Given the description of an element on the screen output the (x, y) to click on. 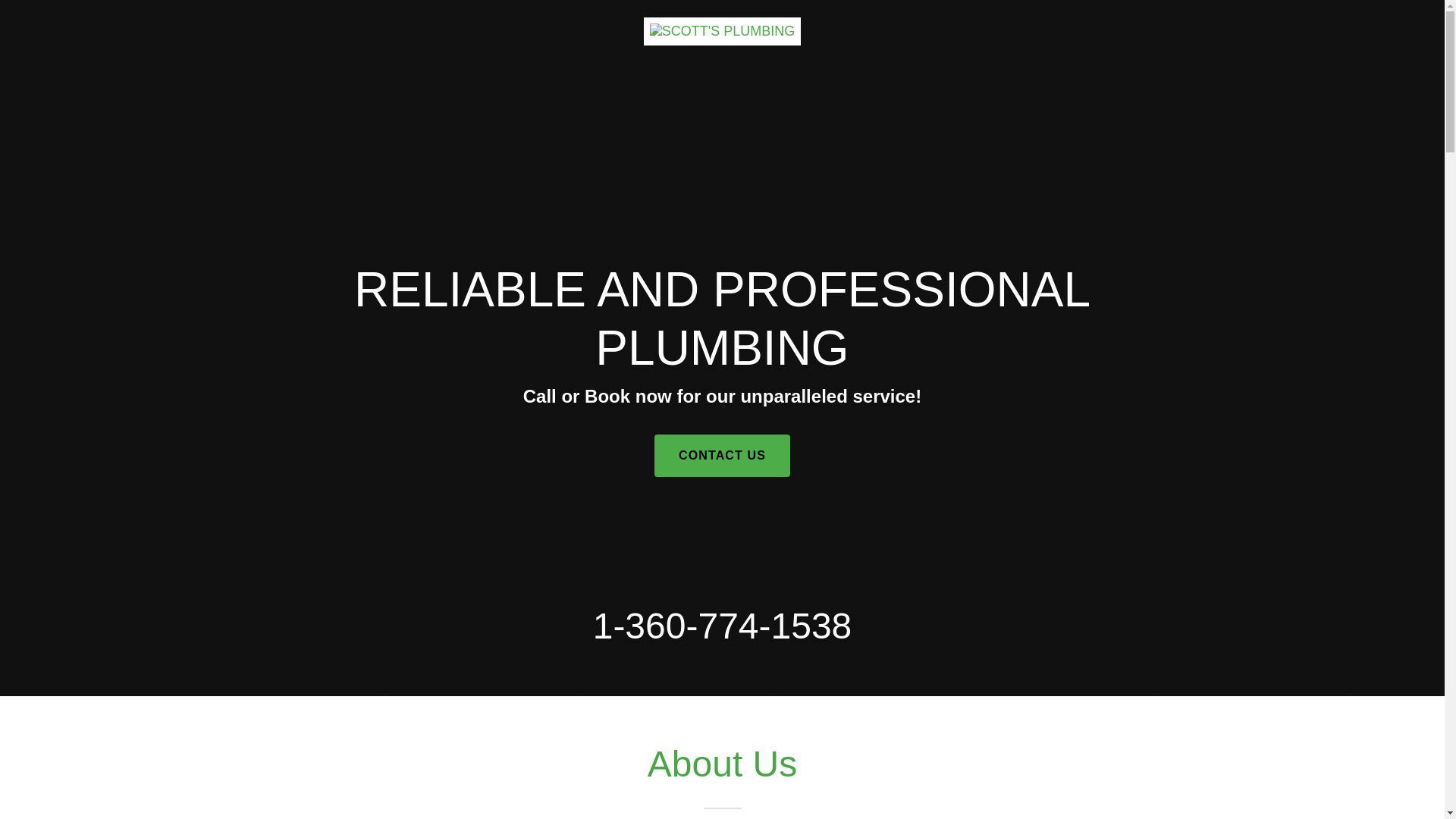
CONTACT US (721, 455)
1-360-774-1538 (721, 626)
SCOTT'S PLUMBING (721, 24)
